Given the description of an element on the screen output the (x, y) to click on. 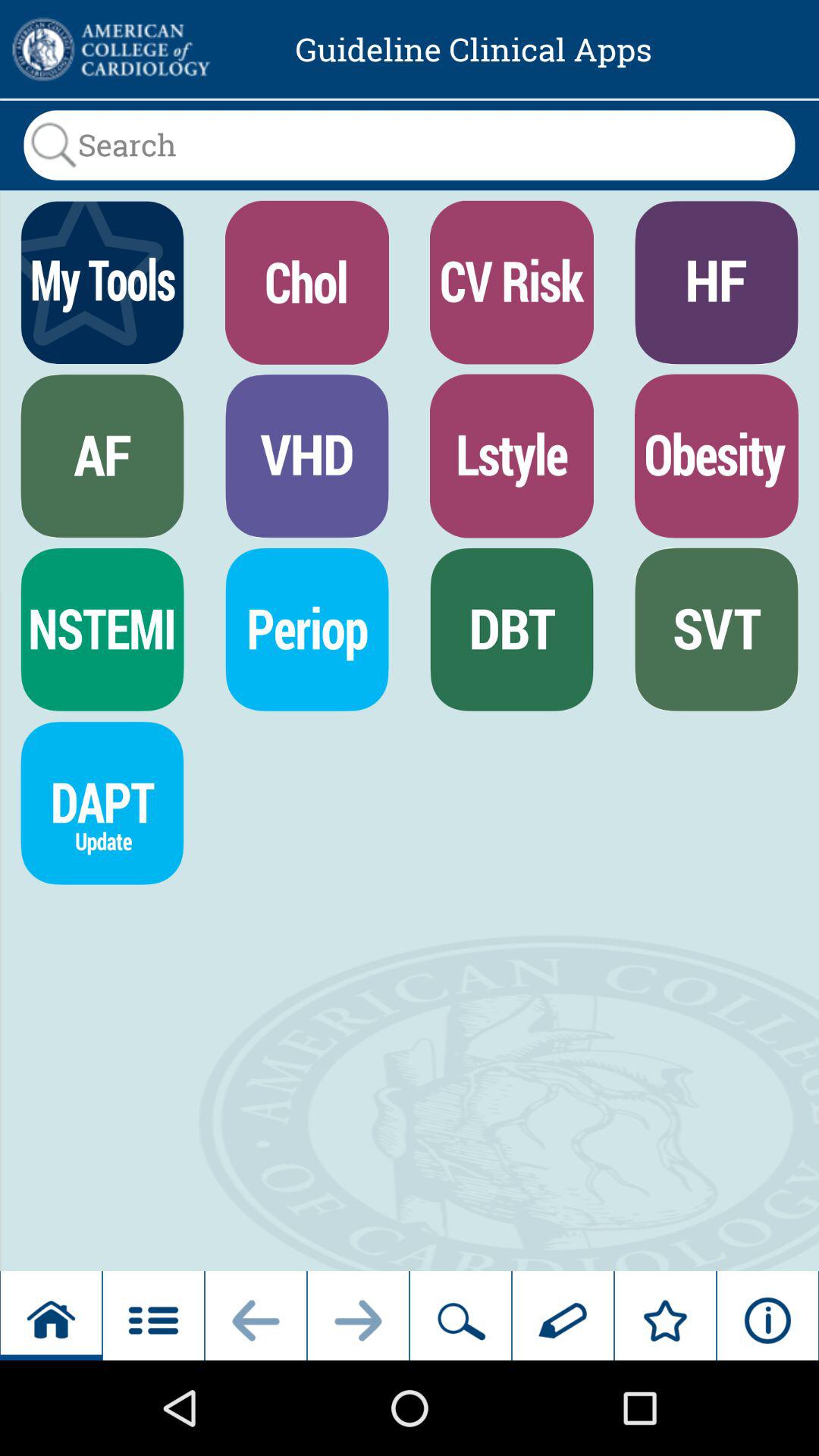
click on advertisement (109, 49)
